Given the description of an element on the screen output the (x, y) to click on. 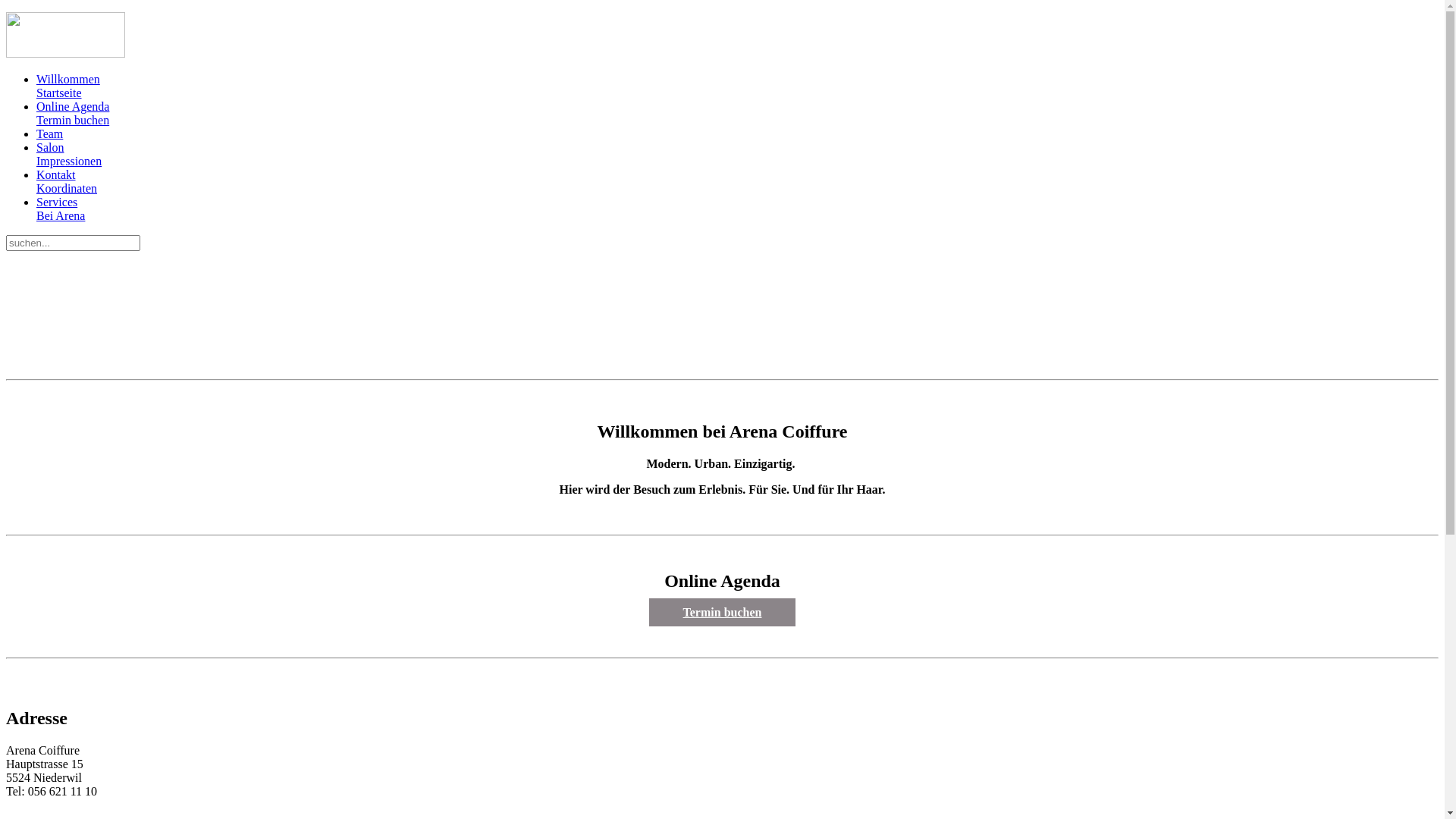
Team Element type: text (737, 134)
Online Agenda
Termin buchen Element type: text (737, 113)
Salon
Impressionen Element type: text (737, 154)
Termin buchen Element type: text (722, 612)
Willkommen
Startseite Element type: text (737, 86)
Kontakt
Koordinaten Element type: text (737, 181)
Services
Bei Arena Element type: text (737, 208)
